Given the description of an element on the screen output the (x, y) to click on. 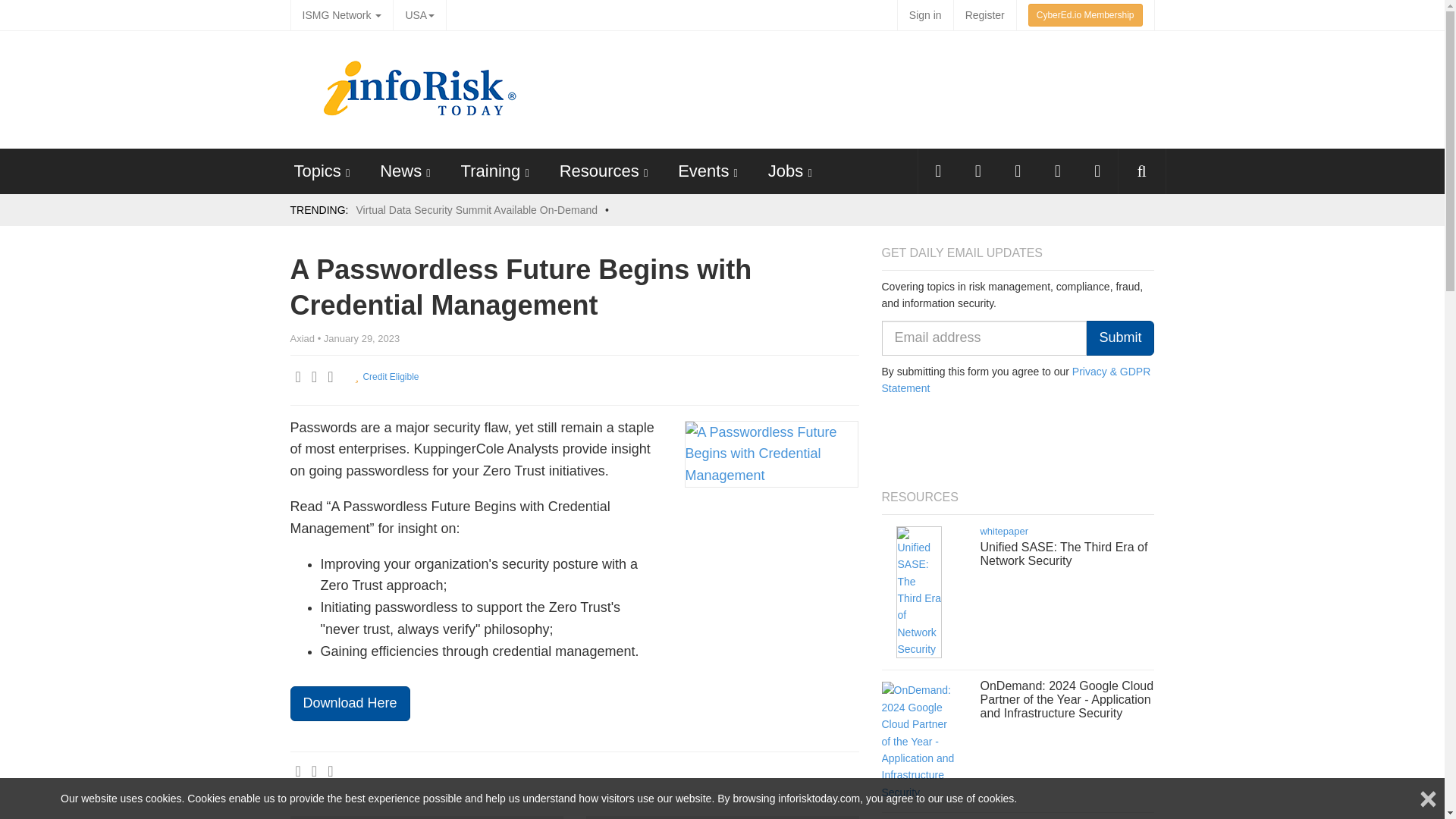
ISMG Network (341, 15)
Register (984, 15)
USA (418, 15)
CyberEd.io Membership (1084, 15)
Sign in (925, 15)
Topics (317, 170)
